Given the description of an element on the screen output the (x, y) to click on. 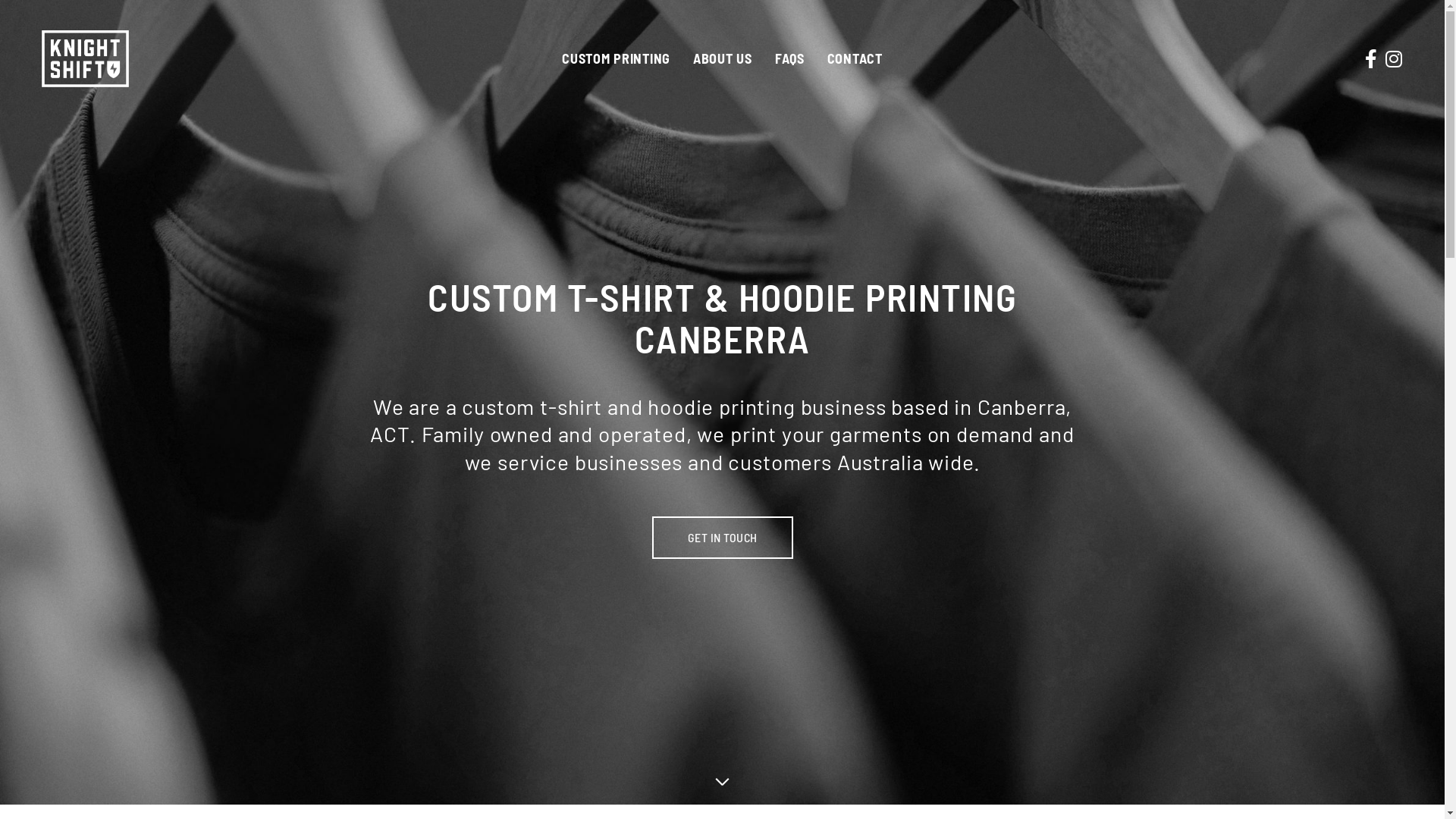
Knight Shift Element type: hover (84, 58)
CUSTOM PRINTING Element type: text (615, 58)
FAQS Element type: text (789, 58)
CONTACT Element type: text (854, 58)
GET IN TOUCH Element type: text (722, 537)
ABOUT US Element type: text (722, 58)
